Given the description of an element on the screen output the (x, y) to click on. 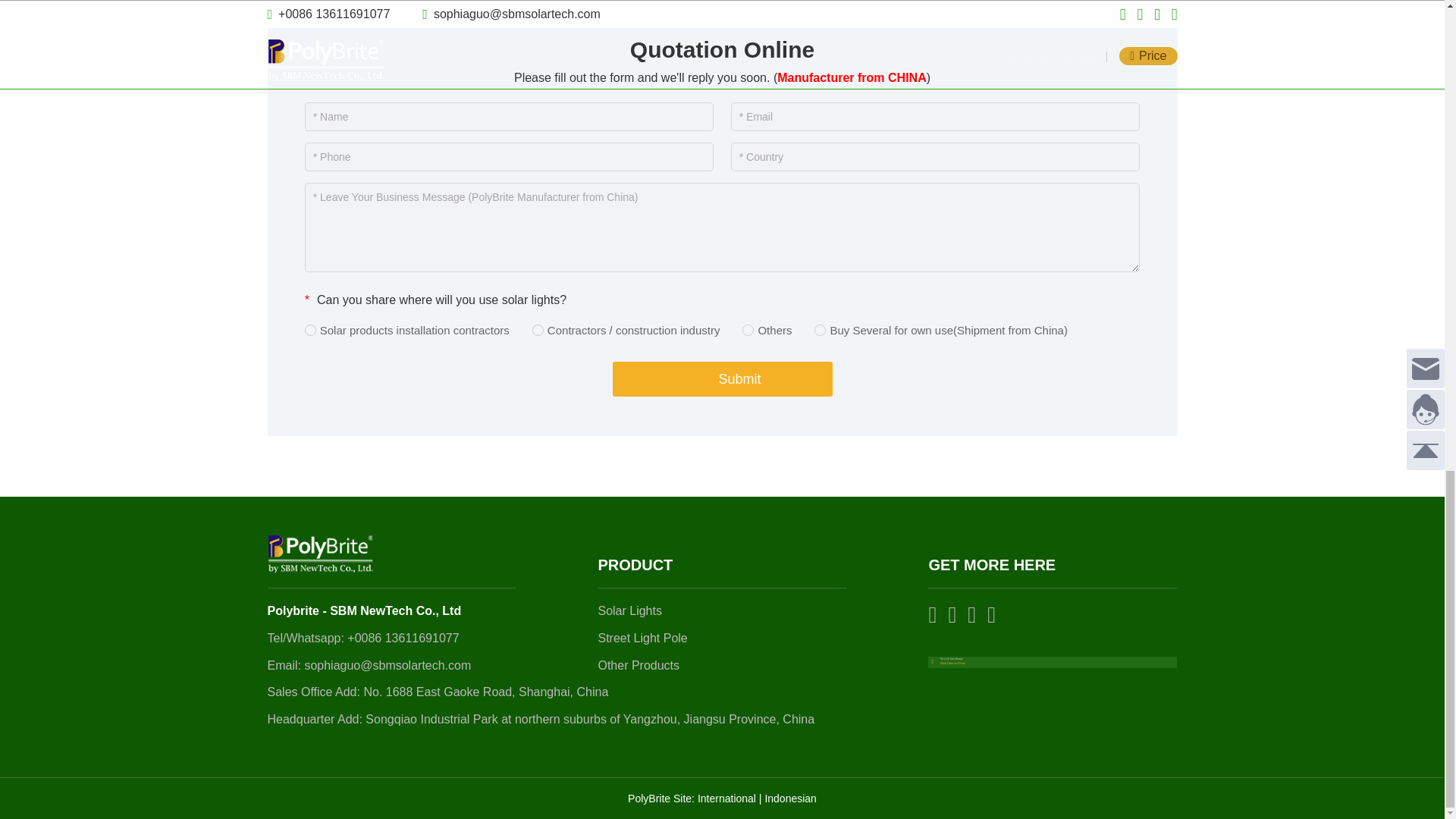
Just buy several pieces for my own use (819, 329)
Others (748, 329)
Solar products installation contractors (309, 329)
